Given the description of an element on the screen output the (x, y) to click on. 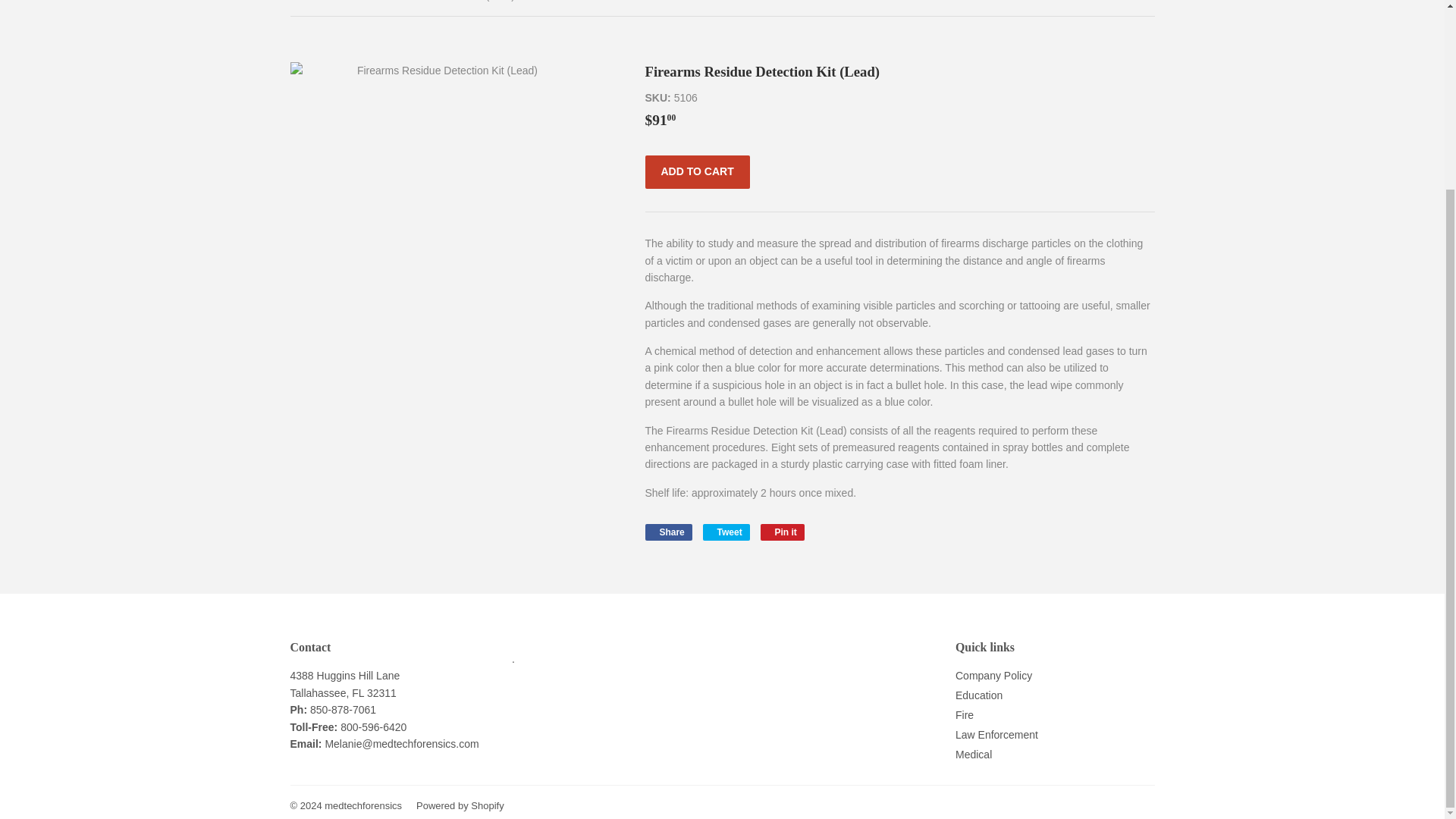
Pin on Pinterest (782, 532)
Tweet on Twitter (726, 532)
Share on Facebook (668, 532)
Back to the frontpage (305, 7)
